Given the description of an element on the screen output the (x, y) to click on. 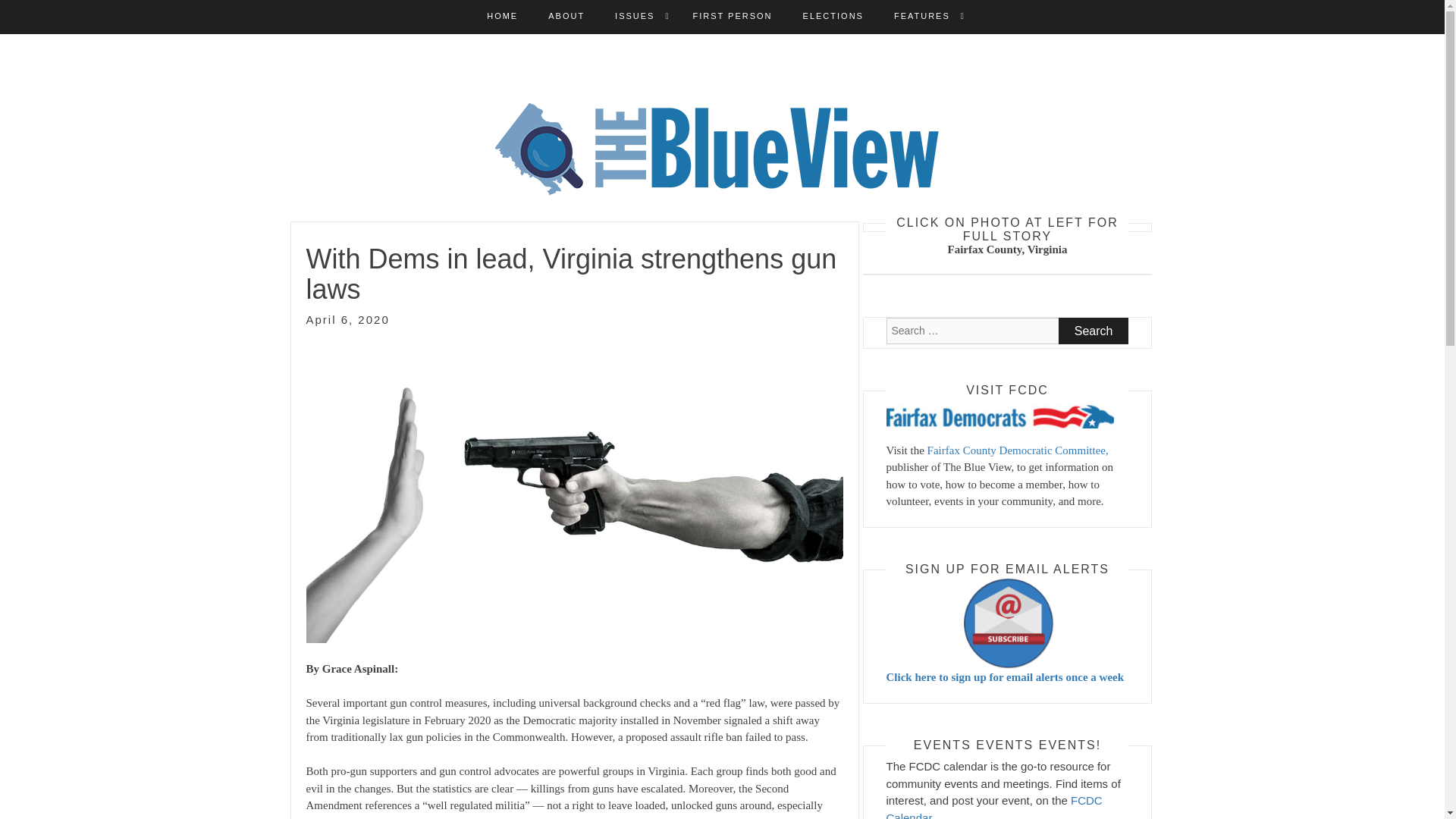
ELECTIONS (833, 17)
Fairfax County Democratic Committee, (1017, 450)
FCDC Calendar (993, 806)
Search (1093, 330)
ISSUES (633, 17)
Search (1093, 330)
Click here to sign up for email alerts once a week (1006, 630)
FEATURES (921, 17)
Search (1093, 330)
ABOUT (566, 17)
HOME (502, 17)
FIRST PERSON (732, 17)
